Given the description of an element on the screen output the (x, y) to click on. 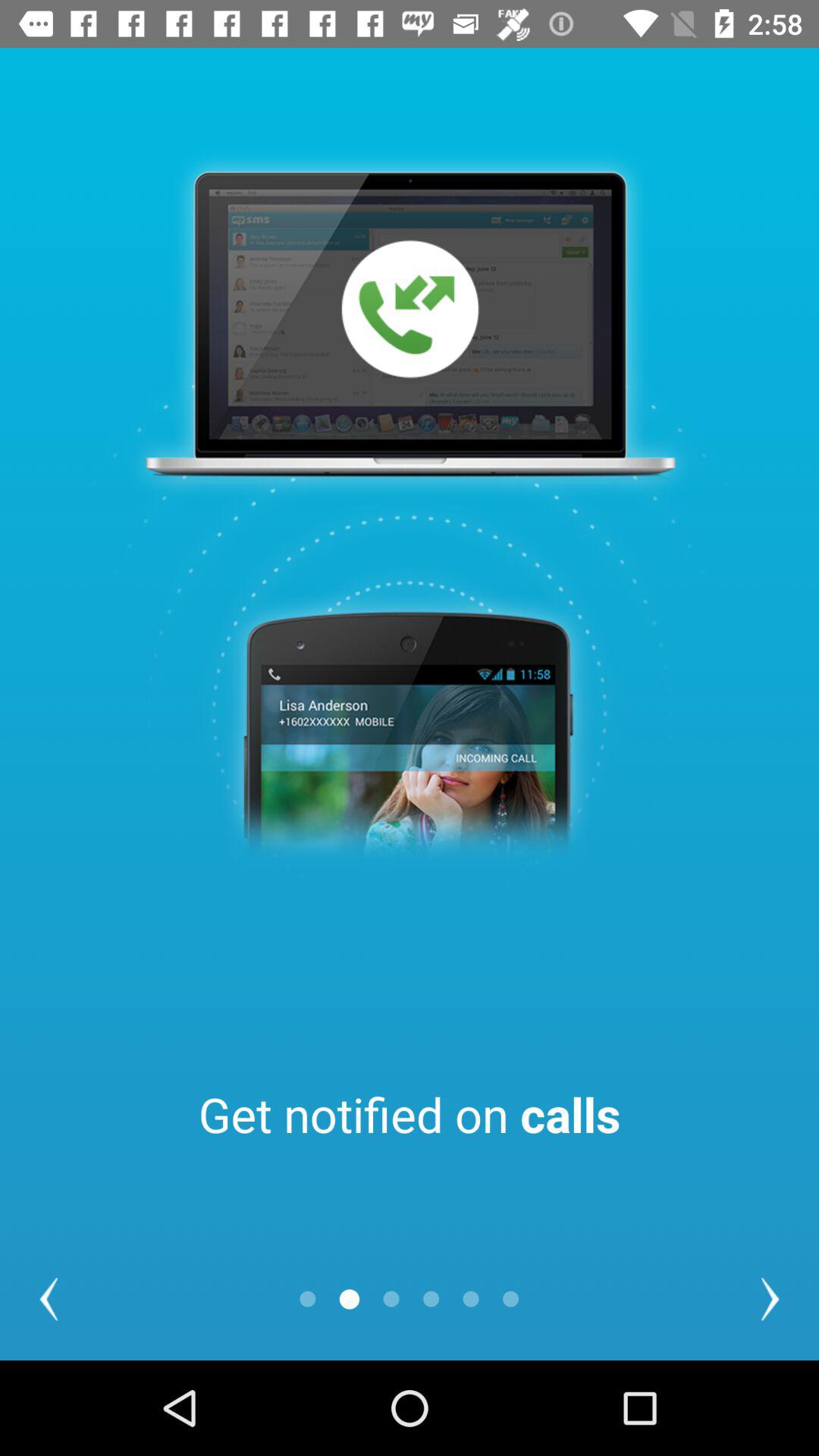
launch the item at the bottom right corner (769, 1299)
